Given the description of an element on the screen output the (x, y) to click on. 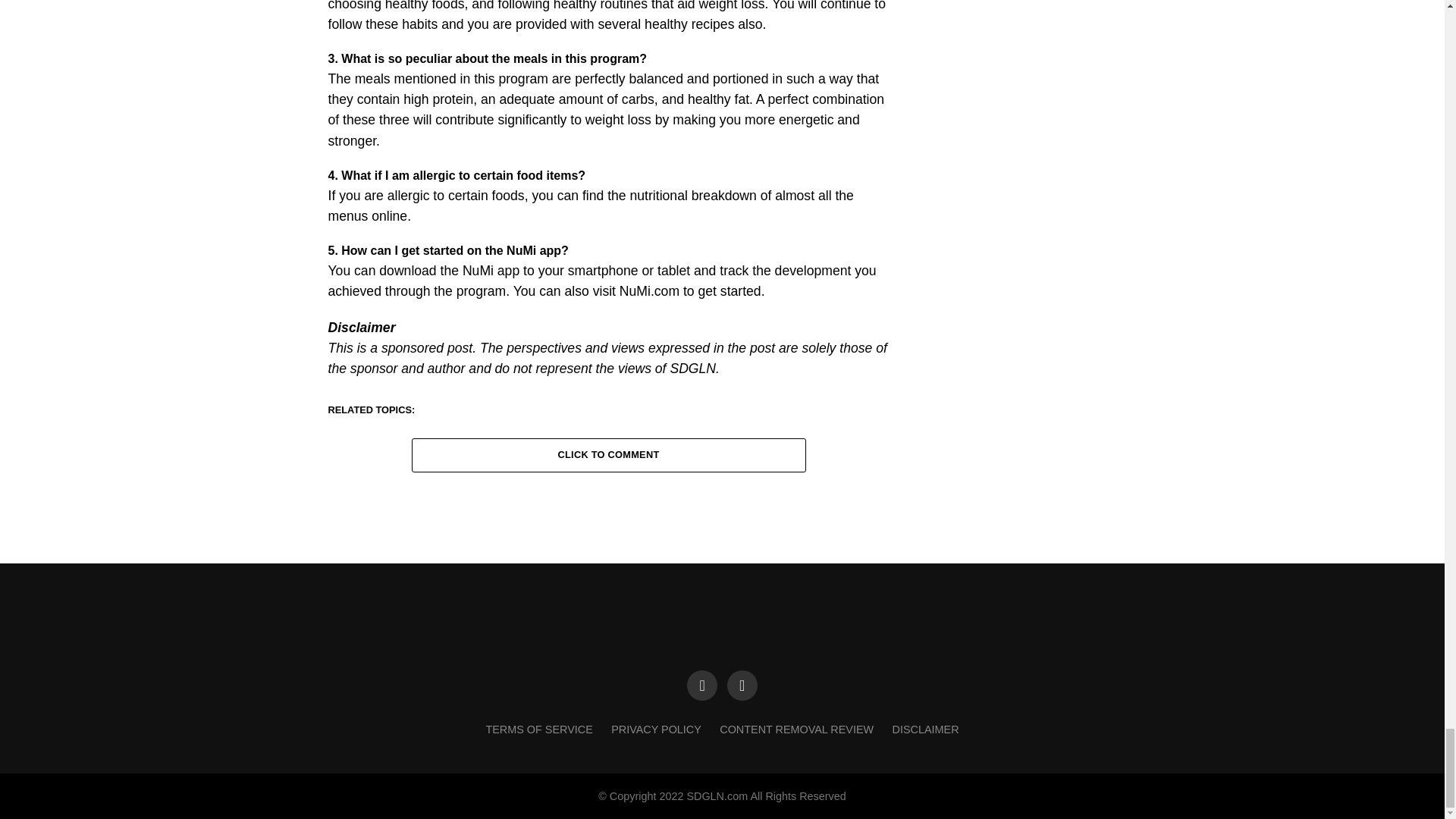
PRIVACY POLICY (656, 729)
TERMS OF SERVICE (538, 729)
